Given the description of an element on the screen output the (x, y) to click on. 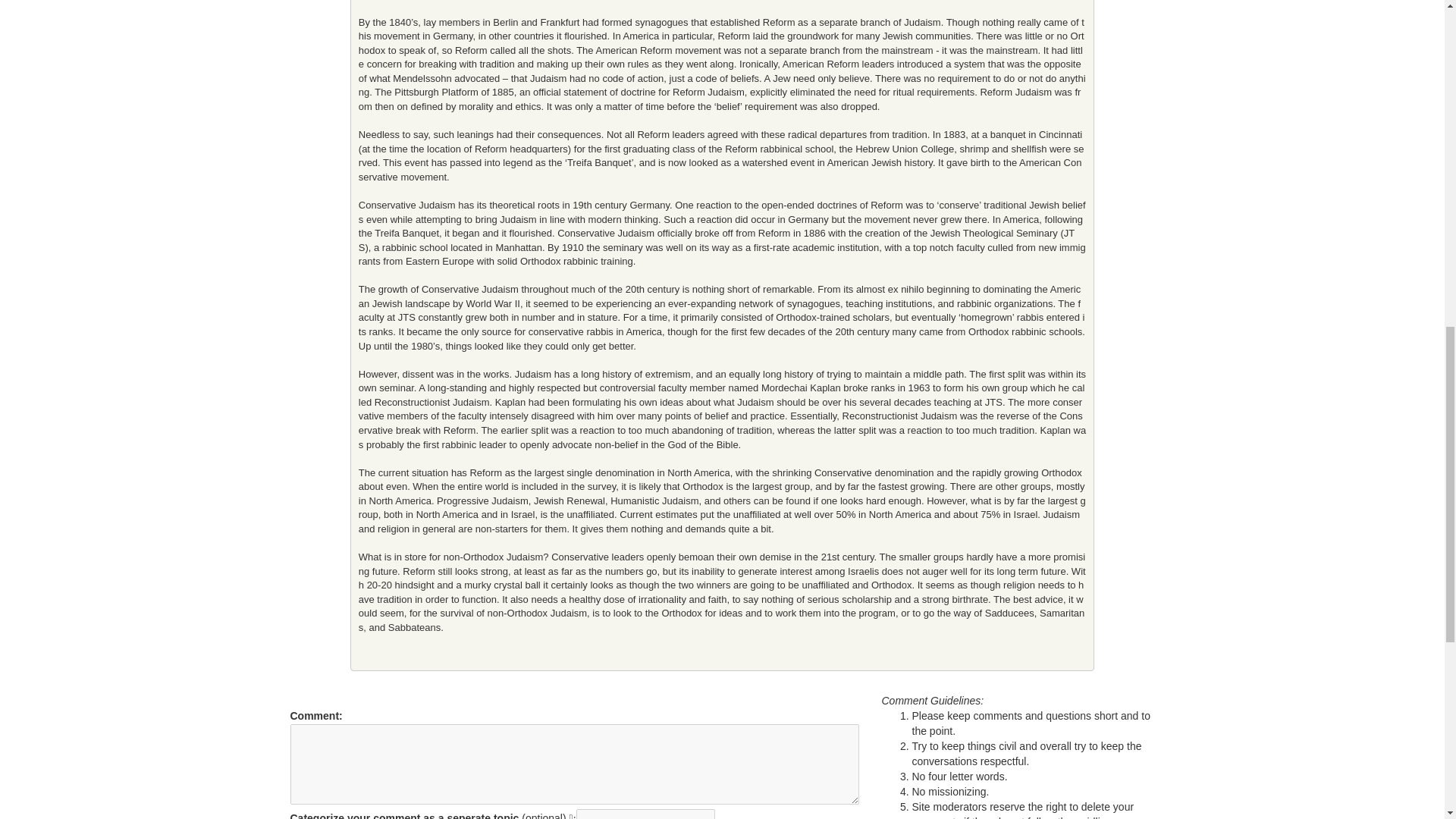
Topics are specefic discussions on the essay. (572, 816)
